Given the description of an element on the screen output the (x, y) to click on. 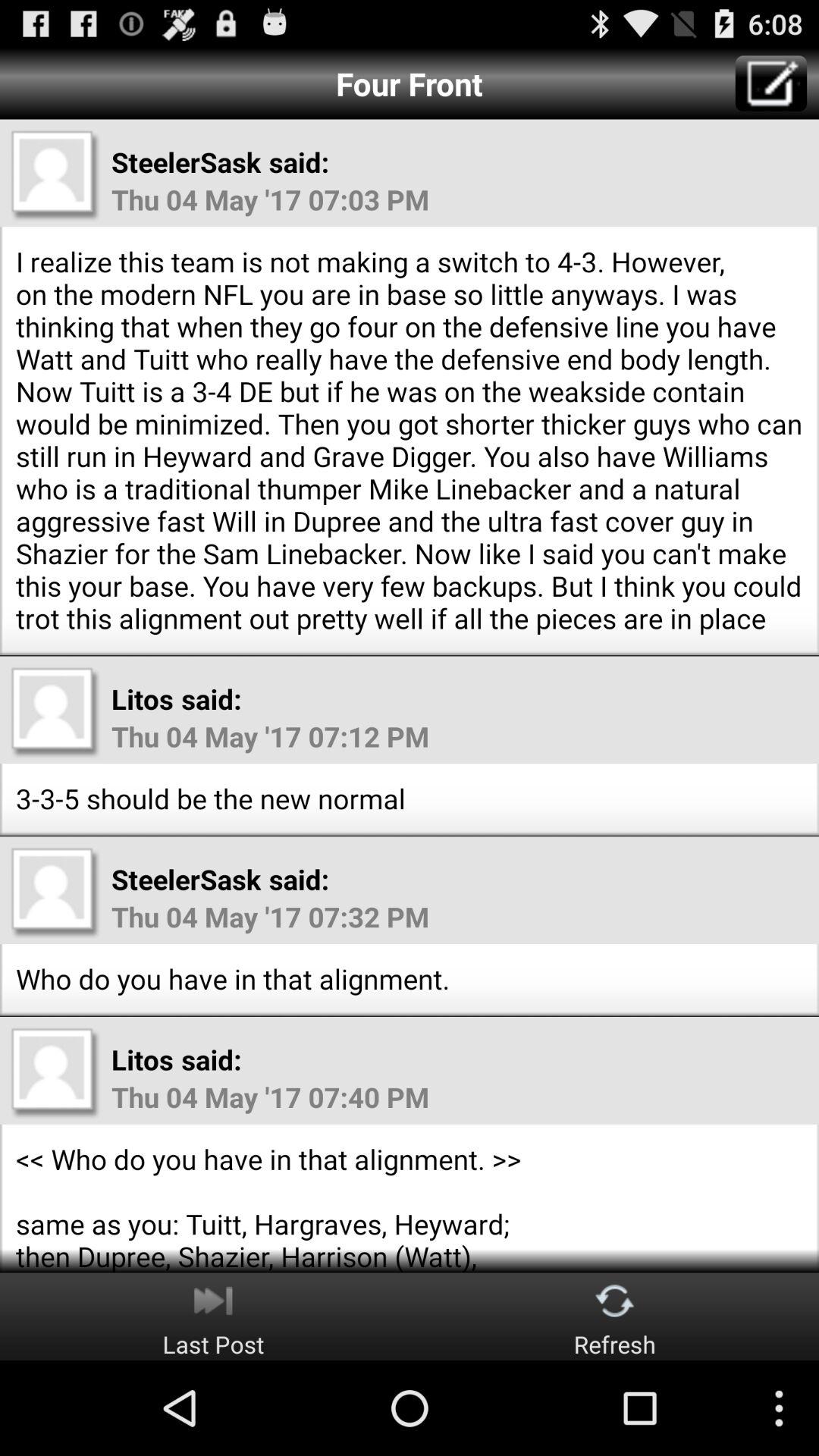
search profile (55, 711)
